Given the description of an element on the screen output the (x, y) to click on. 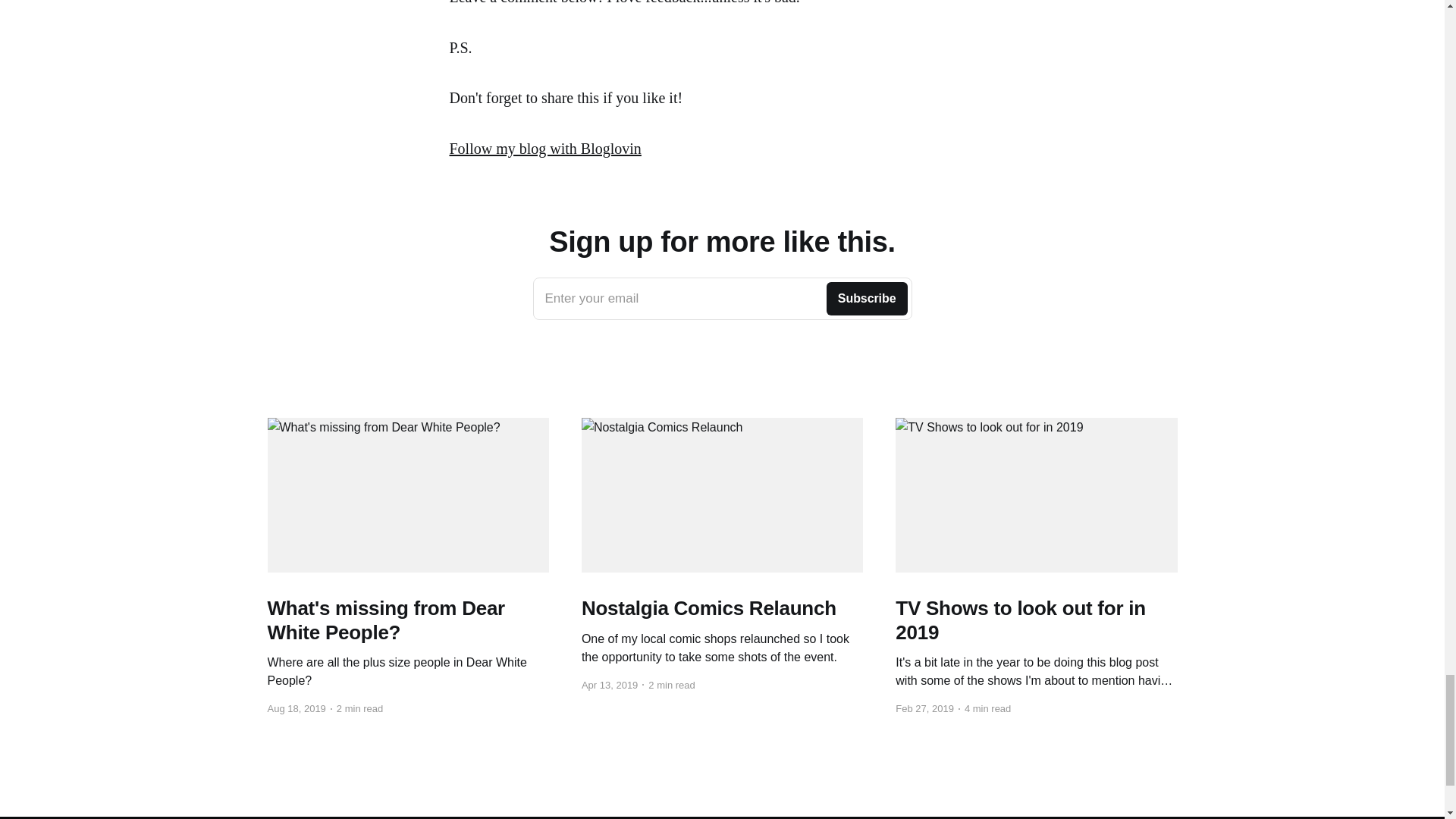
Follow my blog with Bloglovin (721, 298)
